Given the description of an element on the screen output the (x, y) to click on. 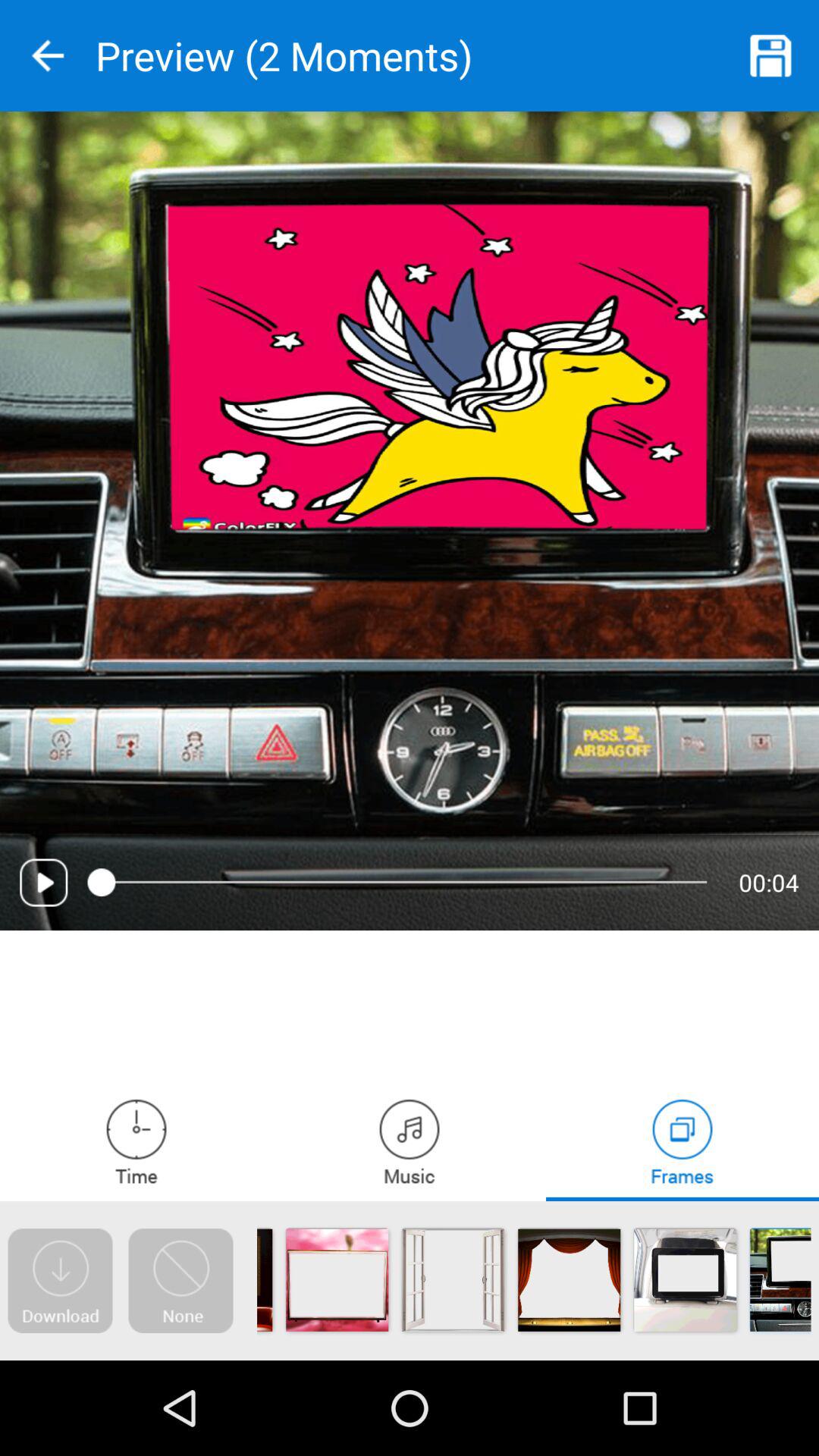
select the second image below frames text (684, 1280)
